Given the description of an element on the screen output the (x, y) to click on. 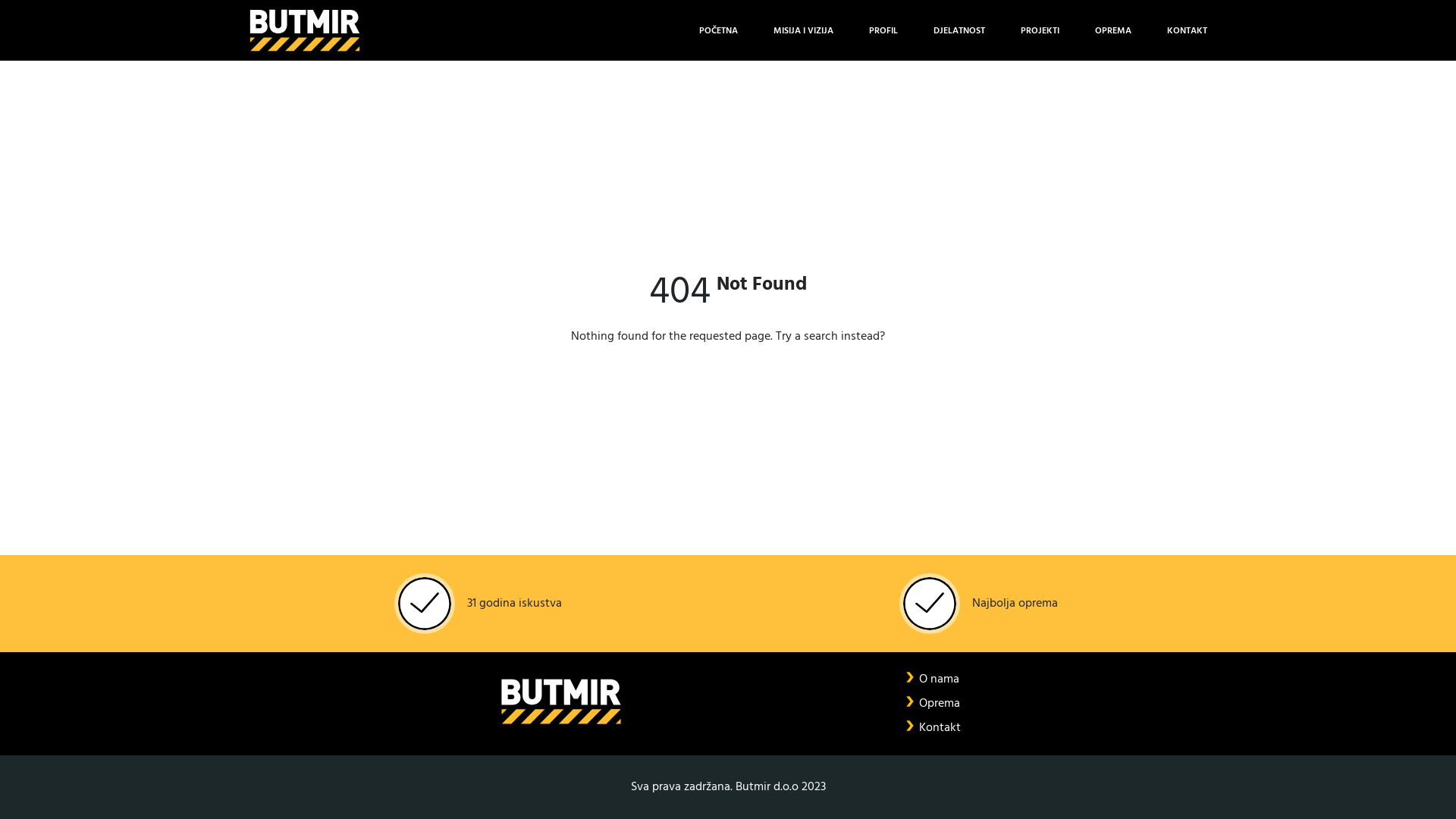
MISIJA I VIZIJA Element type: text (803, 30)
Kontakt Element type: text (939, 727)
OPREMA Element type: text (1112, 30)
PROJEKTI Element type: text (1039, 30)
Oprema Element type: text (939, 703)
KONTAKT Element type: text (1186, 30)
PROFIL Element type: text (883, 30)
O nama Element type: text (939, 679)
DJELATNOST Element type: text (959, 30)
